Given the description of an element on the screen output the (x, y) to click on. 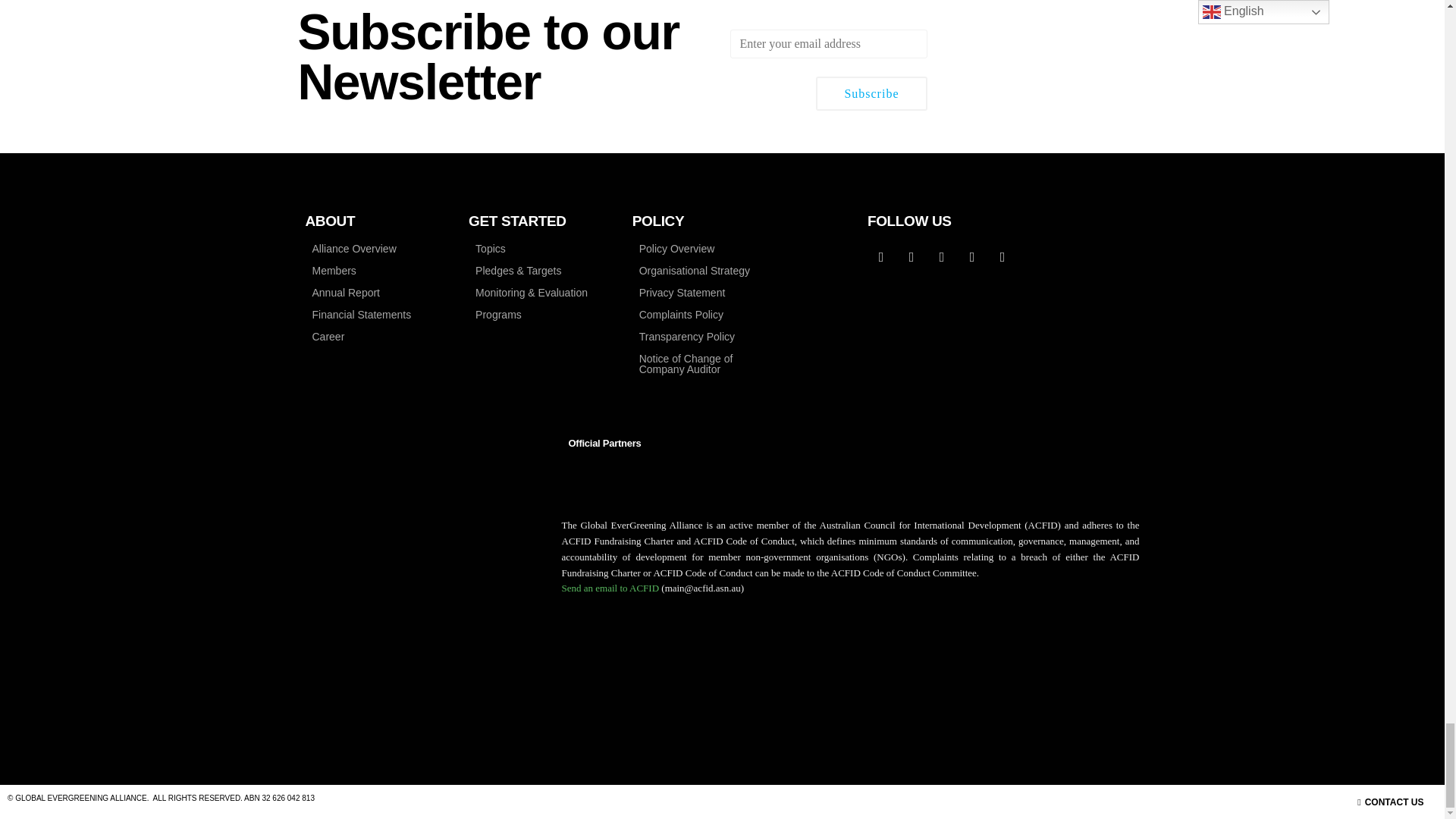
Subscribe (870, 93)
